Given the description of an element on the screen output the (x, y) to click on. 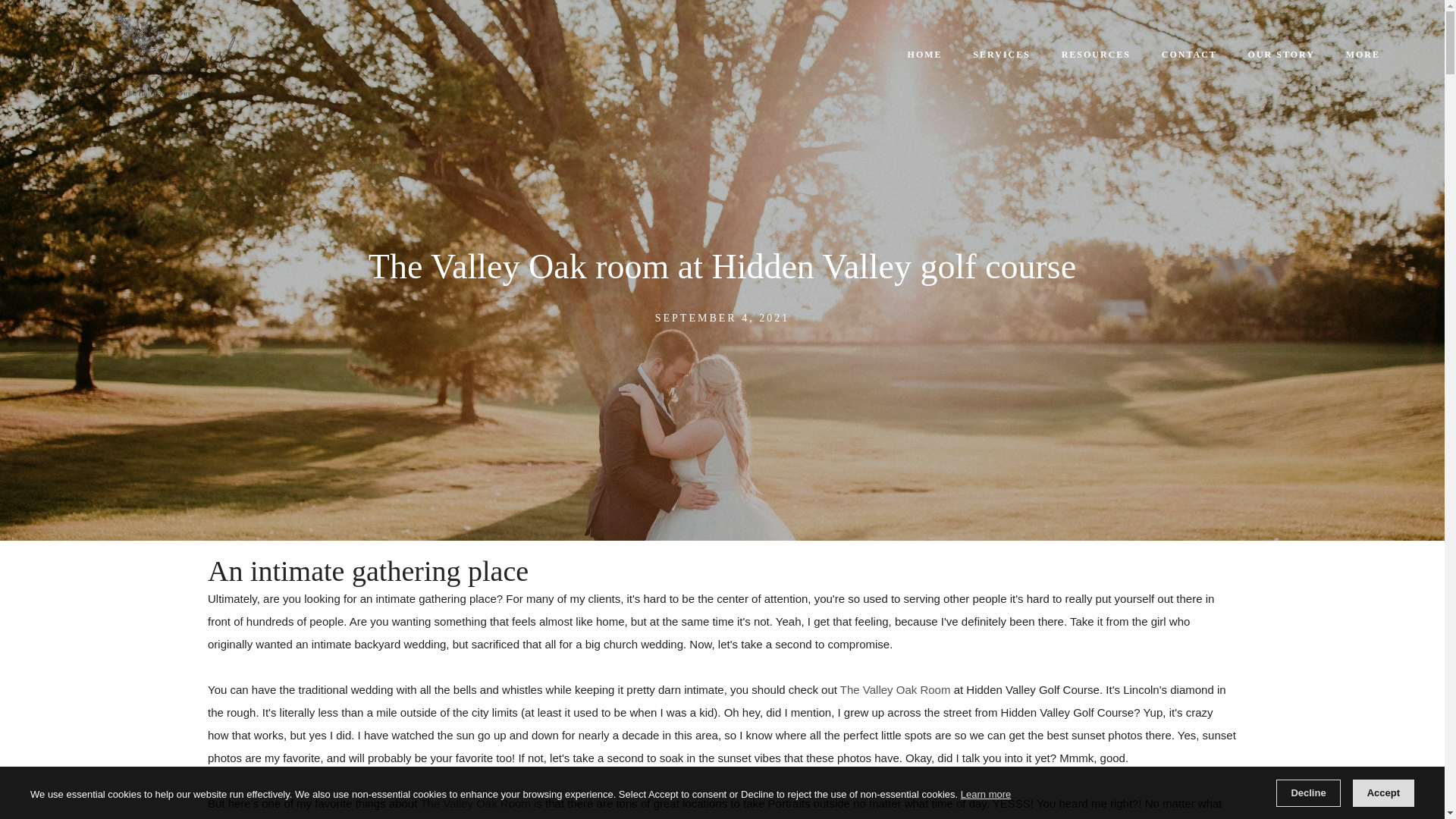
Learn more (985, 793)
RESOURCES (1095, 54)
Accept (1382, 792)
Decline (1307, 792)
CONTACT (1189, 54)
SERVICES (1001, 54)
OUR STORY (1281, 54)
MORE (1366, 54)
HOME (924, 54)
